Given the description of an element on the screen output the (x, y) to click on. 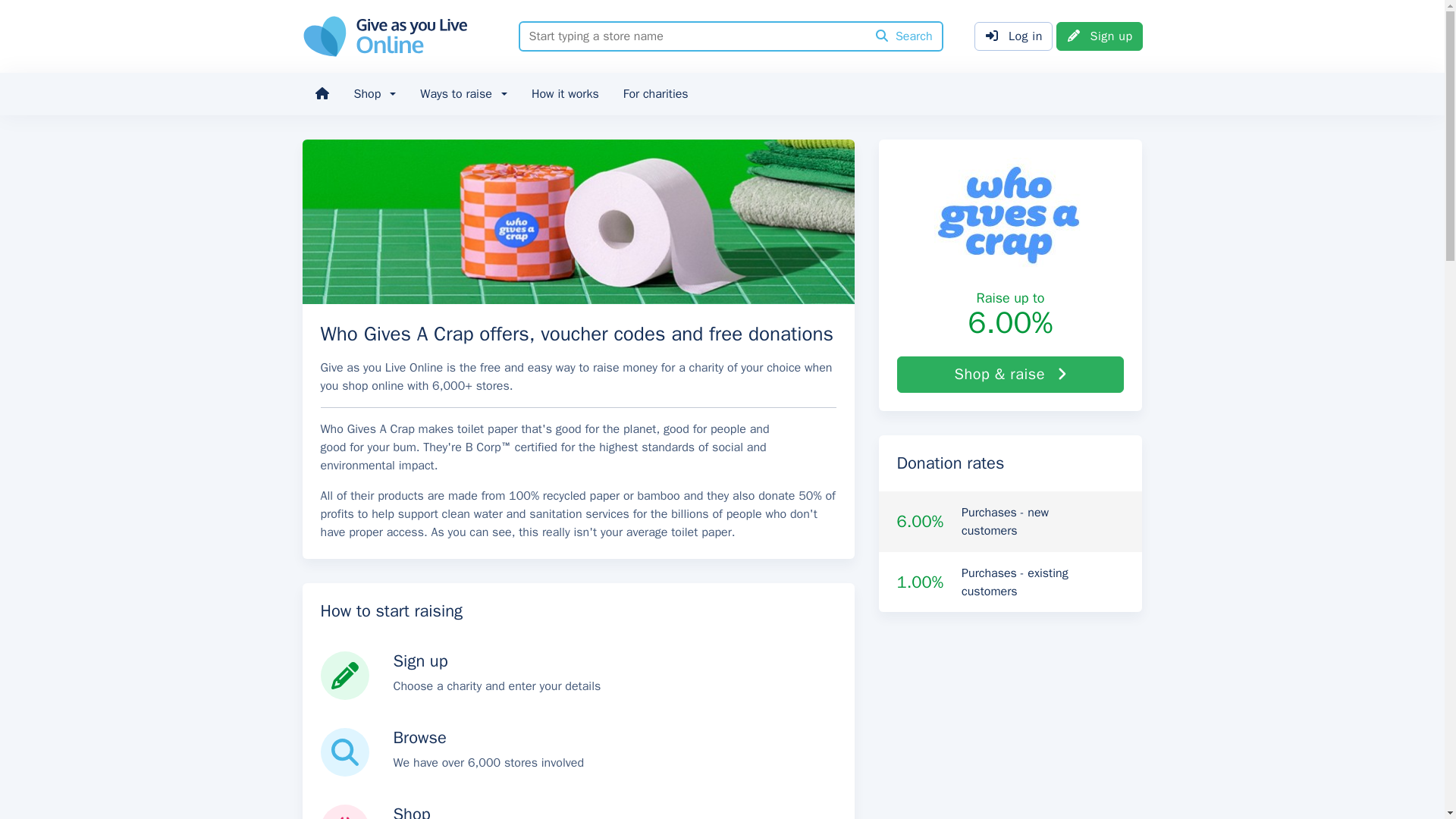
Sign up (1099, 36)
Search (904, 36)
Log in (1013, 36)
Shop (373, 93)
Ways to raise (463, 93)
Home (320, 93)
